Given the description of an element on the screen output the (x, y) to click on. 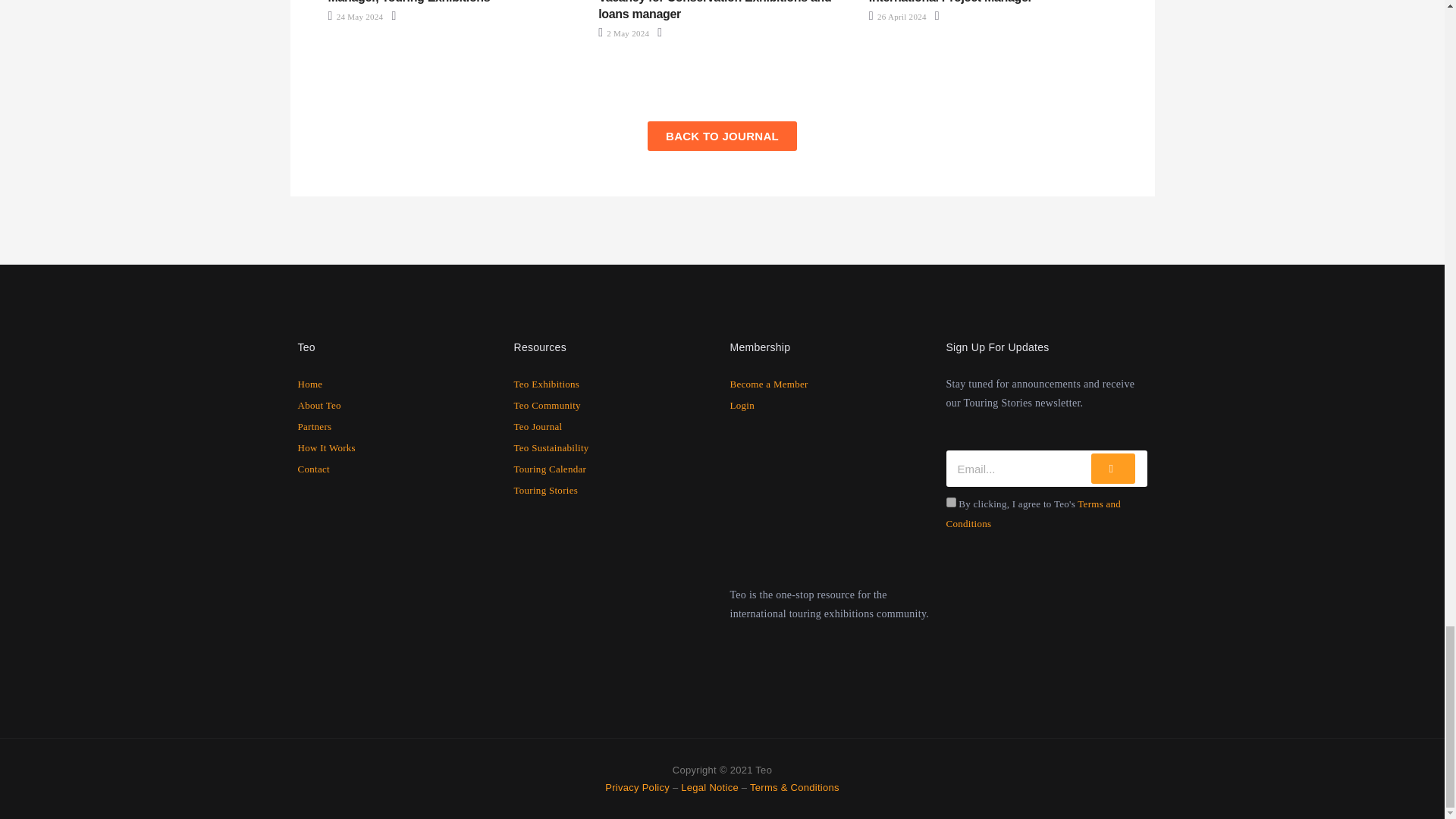
on (951, 501)
24 May 2024 (354, 16)
Manager, Touring Exhibitions (408, 2)
